Given the description of an element on the screen output the (x, y) to click on. 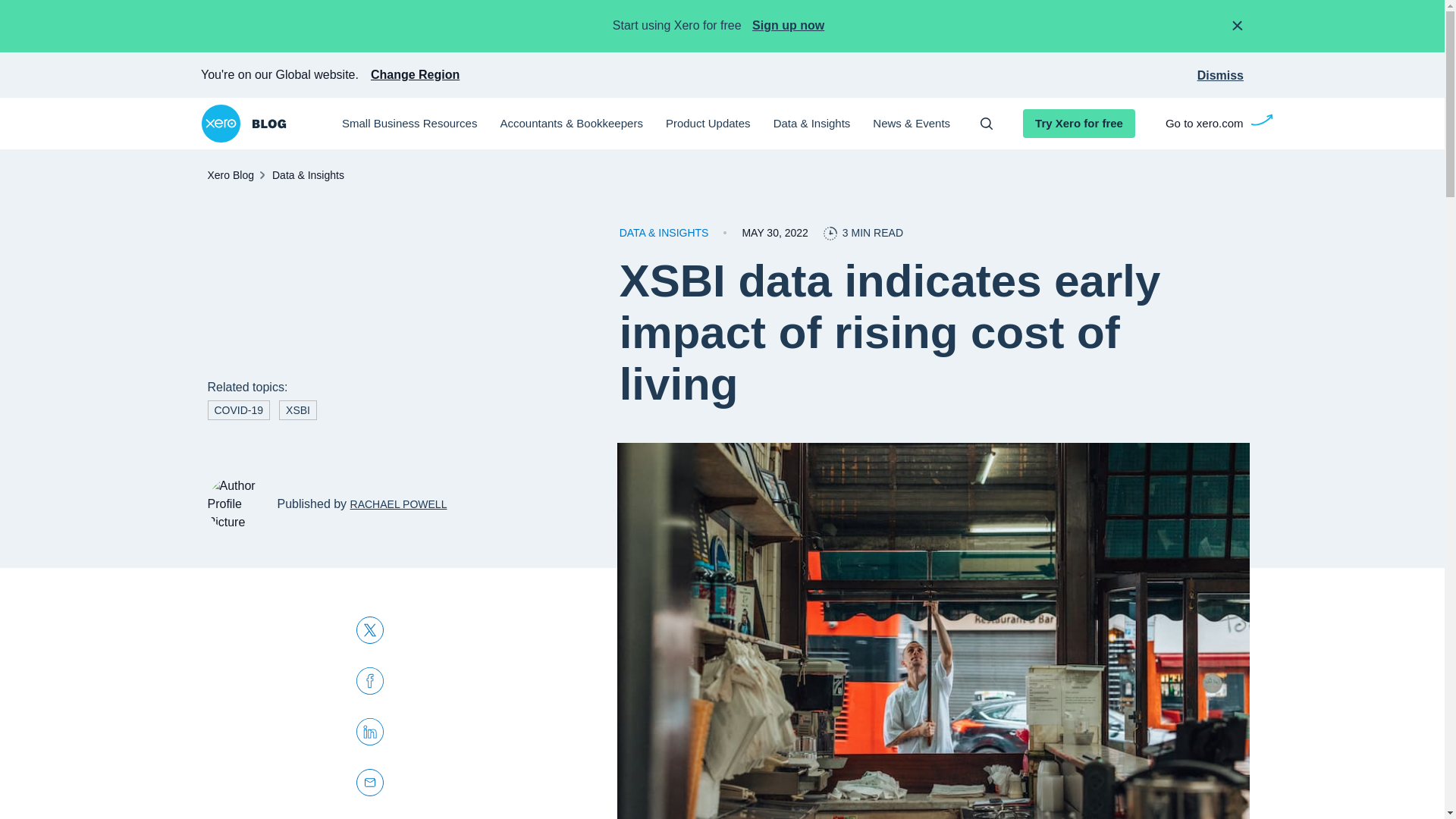
Xero Blog (230, 174)
Product Updates (708, 123)
XSBI (298, 410)
Small Business Resources (409, 123)
RACHAEL POWELL (398, 503)
LinkedIn (369, 732)
Email (369, 783)
Go to xero.com (1204, 123)
Facebook (369, 681)
Twitter (369, 631)
Dismiss (1219, 74)
Sign up now (787, 24)
Try Xero for free (1079, 123)
Change Region (415, 75)
COVID-19 (239, 410)
